Given the description of an element on the screen output the (x, y) to click on. 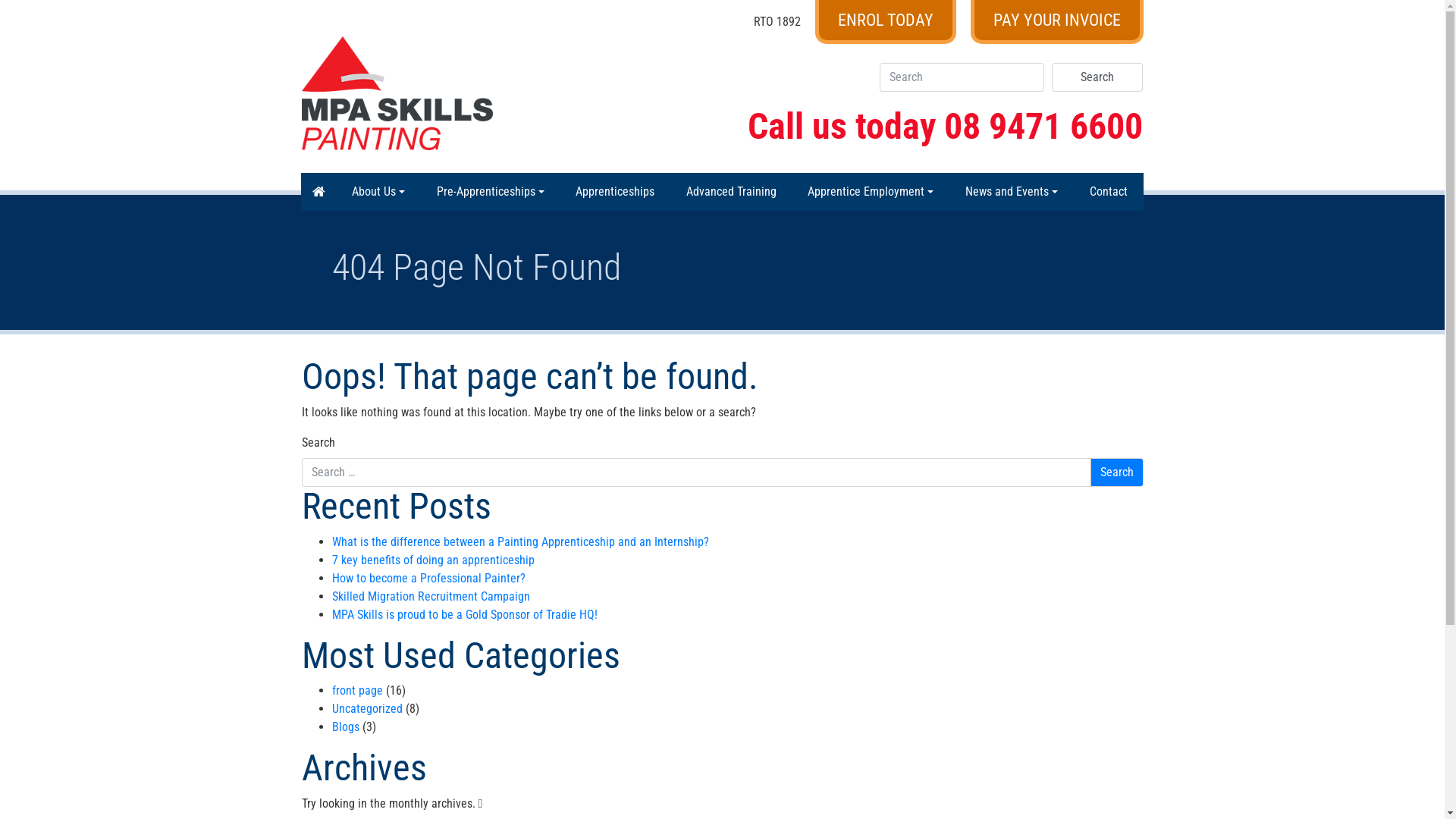
Skilled Migration Recruitment Campaign Element type: text (431, 596)
PAY YOUR INVOICE Element type: text (1056, 21)
Pre-Apprenticeships Element type: text (490, 191)
Uncategorized Element type: text (367, 708)
Apprenticeships Element type: text (614, 191)
Search Element type: text (1096, 76)
08 9471 6600 Element type: text (1043, 125)
Home Element type: text (318, 191)
Blogs Element type: text (345, 726)
front page Element type: text (357, 690)
Contact Element type: text (1108, 191)
Search Element type: text (1116, 472)
7 key benefits of doing an apprenticeship Element type: text (433, 559)
Apprentice Employment Element type: text (871, 191)
About Us Element type: text (377, 191)
News and Events Element type: text (1011, 191)
How to become a Professional Painter? Element type: text (428, 578)
Advanced Training Element type: text (731, 191)
MPA Skills is proud to be a Gold Sponsor of Tradie HQ! Element type: text (464, 614)
ENROL TODAY Element type: text (884, 21)
